Given the description of an element on the screen output the (x, y) to click on. 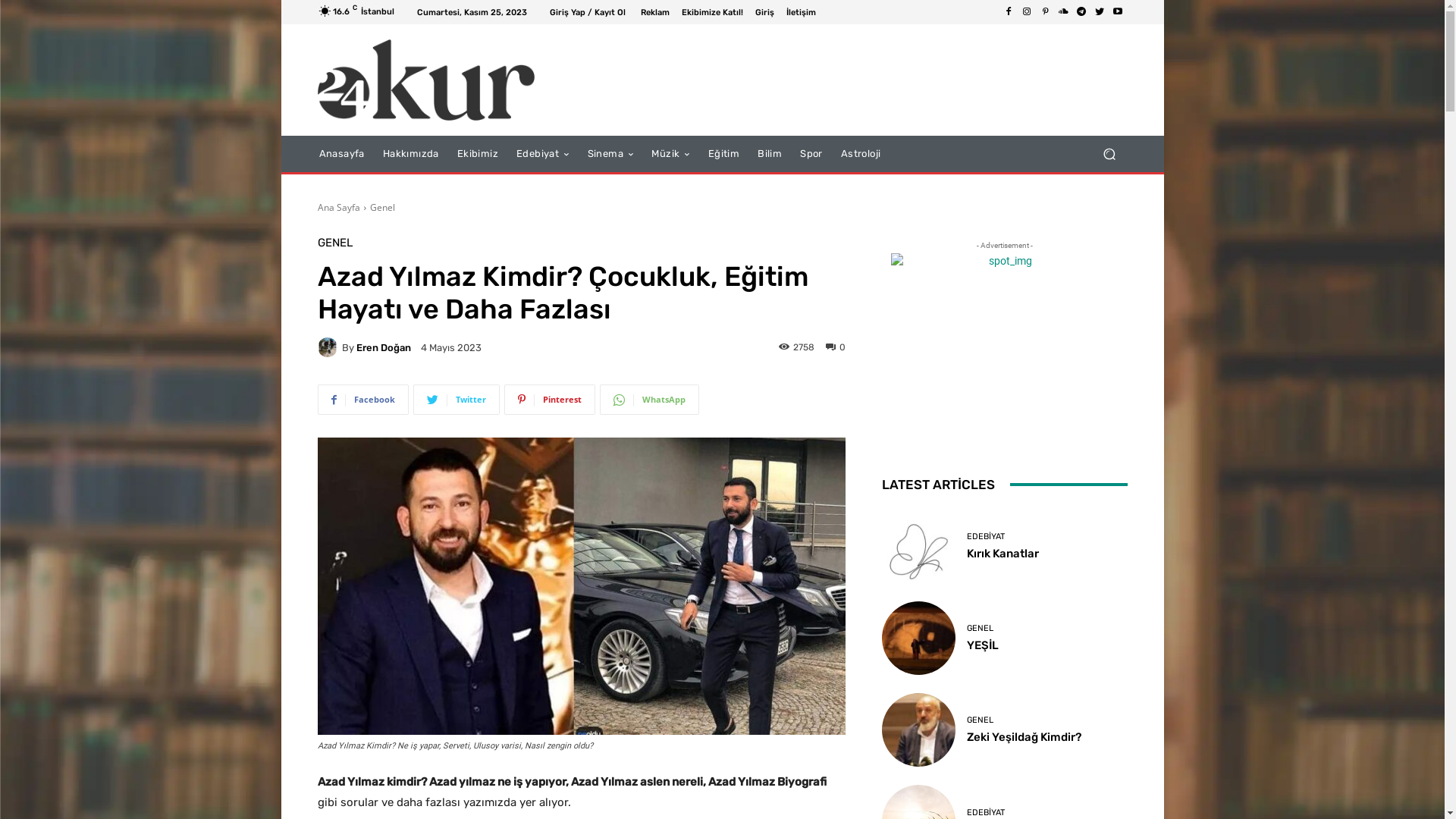
Ana Sayfa Element type: text (337, 206)
GENEL Element type: text (979, 719)
EDEBIYAT Element type: text (985, 812)
Instagram Element type: hover (1026, 12)
Astroloji Element type: text (860, 153)
Soundcloud Element type: hover (1063, 12)
Sinema Element type: text (610, 153)
Bilim Element type: text (769, 153)
Youtube Element type: hover (1117, 12)
Pinterest Element type: text (548, 399)
GENEL Element type: text (333, 242)
Reklam Element type: text (654, 11)
Spor Element type: text (810, 153)
Pinterest Element type: hover (1044, 12)
WhatsApp Element type: text (648, 399)
Anasayfa Element type: text (341, 153)
Genel Element type: text (382, 206)
0 Element type: text (834, 346)
Twitter Element type: hover (1099, 12)
Facebook Element type: text (361, 399)
Telegram Element type: hover (1081, 12)
EDEBIYAT Element type: text (985, 536)
Twitter Element type: text (455, 399)
GENEL Element type: text (979, 628)
Edebiyat Element type: text (542, 153)
Ekibimiz Element type: text (477, 153)
Facebook Element type: hover (1008, 12)
